Given the description of an element on the screen output the (x, y) to click on. 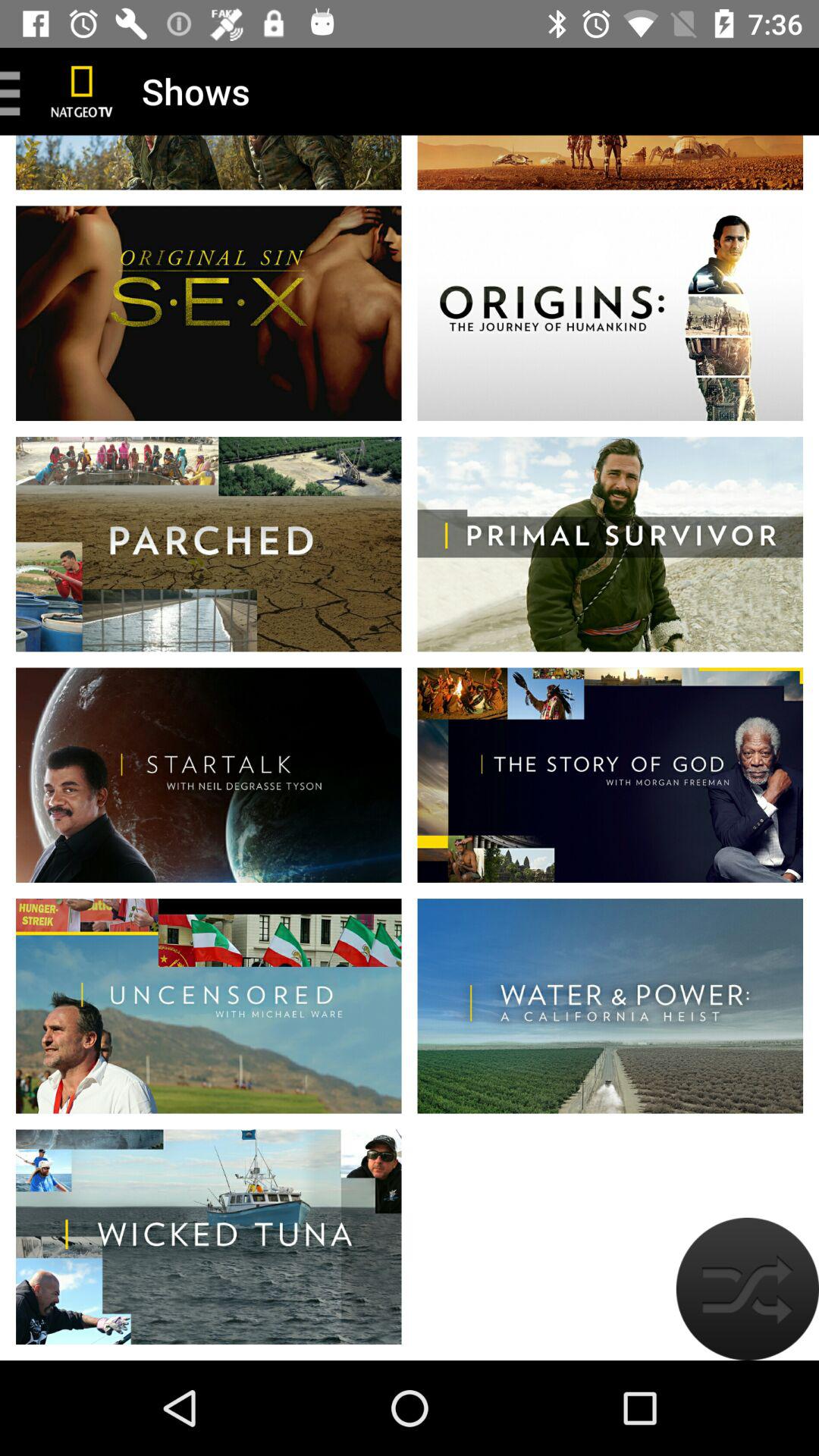
launch the icon to the left of shows icon (81, 91)
